Given the description of an element on the screen output the (x, y) to click on. 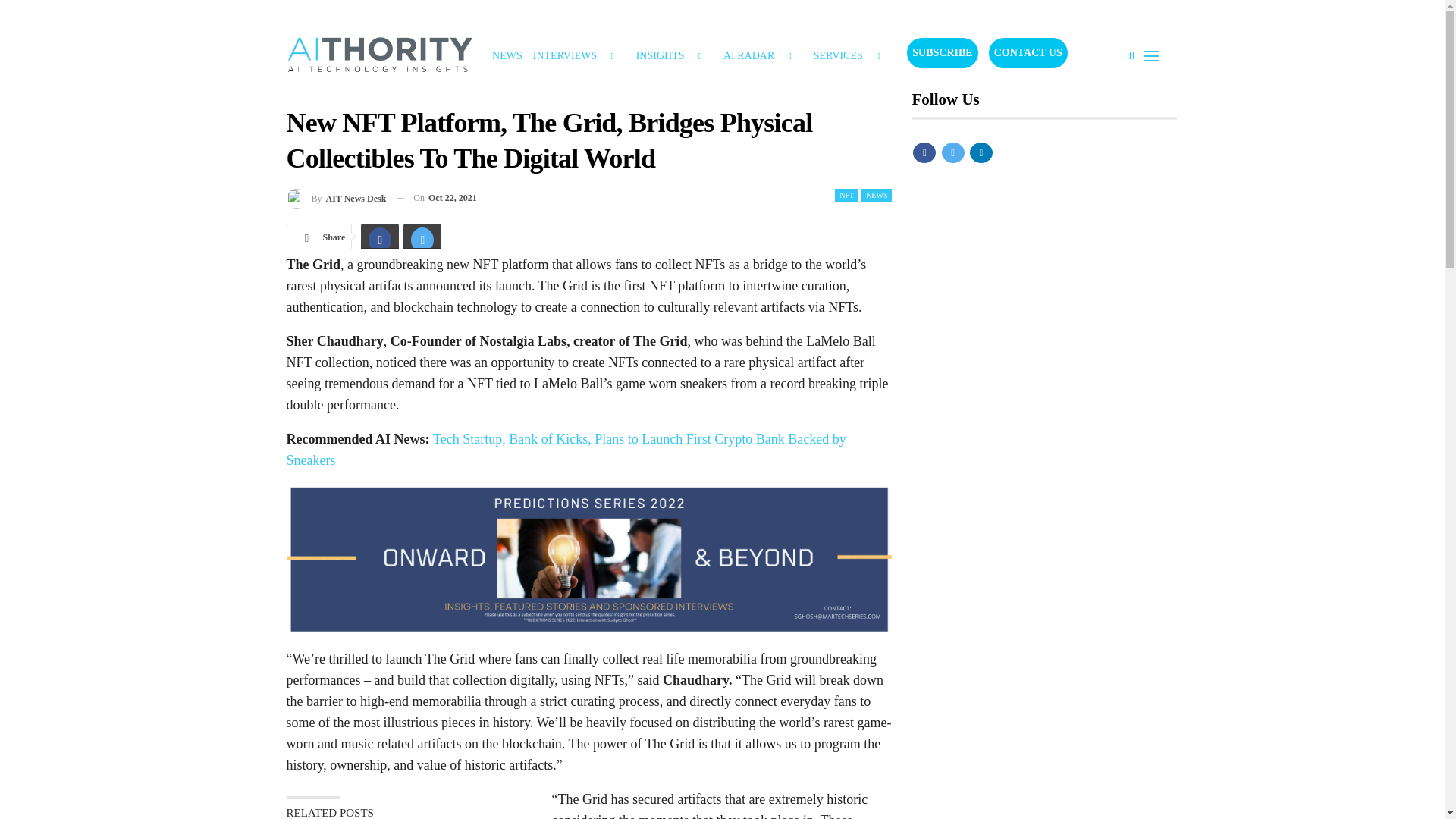
CONTACT US (1027, 52)
NFT (846, 195)
SUBSCRIBE (941, 52)
Browse Author Articles (336, 198)
INTERVIEWS (578, 55)
INSIGHTS (673, 55)
AI RADAR (762, 55)
SERVICES (852, 55)
NEWS (876, 195)
